Given the description of an element on the screen output the (x, y) to click on. 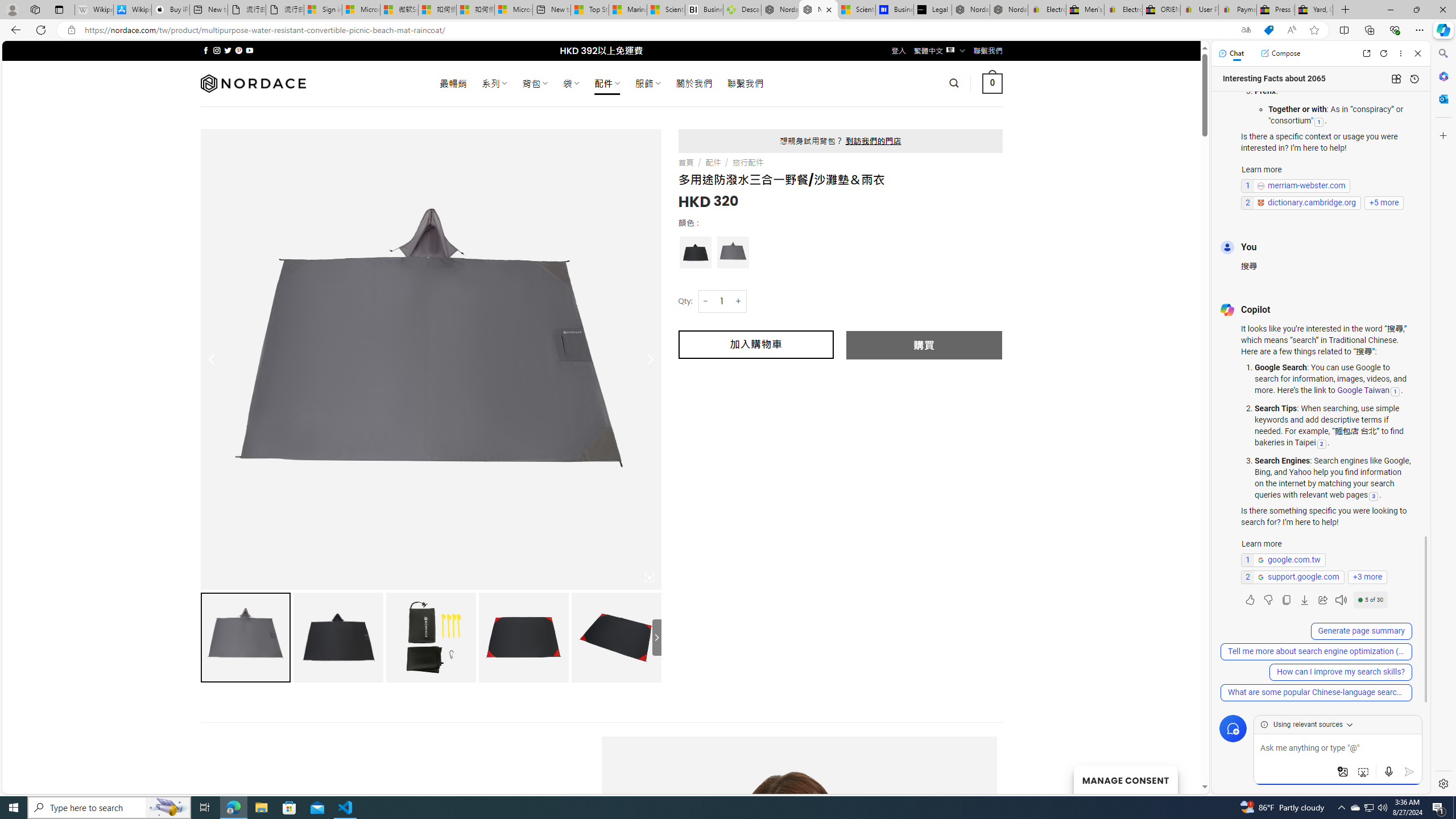
Follow on Pinterest (237, 50)
This site has coupons! Shopping in Microsoft Edge (1268, 29)
